Given the description of an element on the screen output the (x, y) to click on. 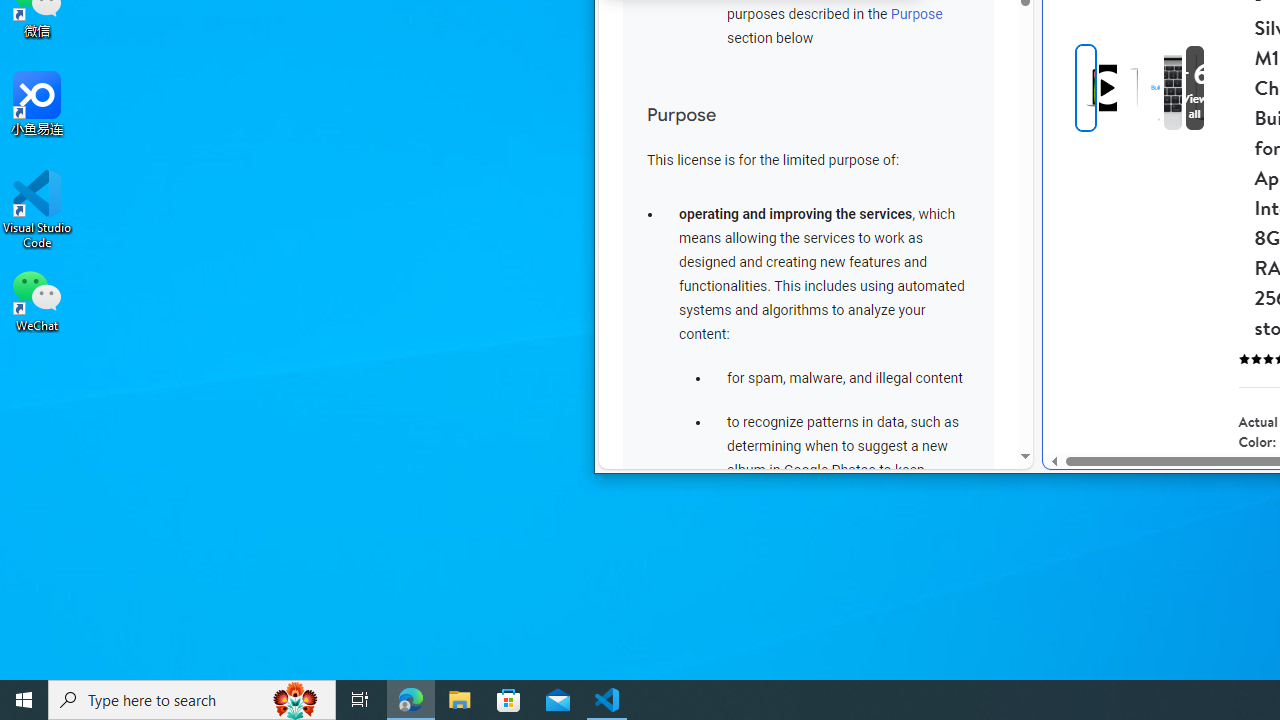
Type here to search (191, 699)
Search highlights icon opens search home window (295, 699)
View all media (1194, 88)
Start (24, 699)
Microsoft Edge - 1 running window (411, 699)
